Given the description of an element on the screen output the (x, y) to click on. 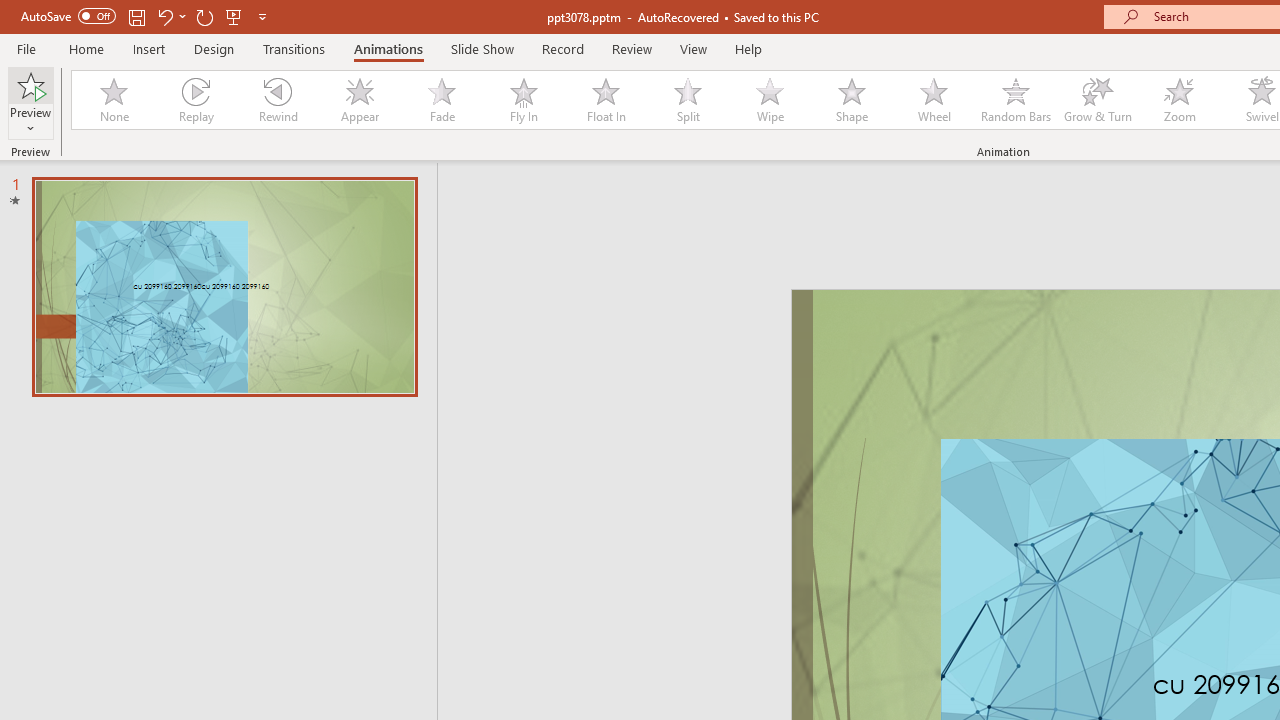
None (113, 100)
Replay (195, 100)
Fly In (523, 100)
Grow & Turn (1098, 100)
Random Bars (1016, 100)
